Given the description of an element on the screen output the (x, y) to click on. 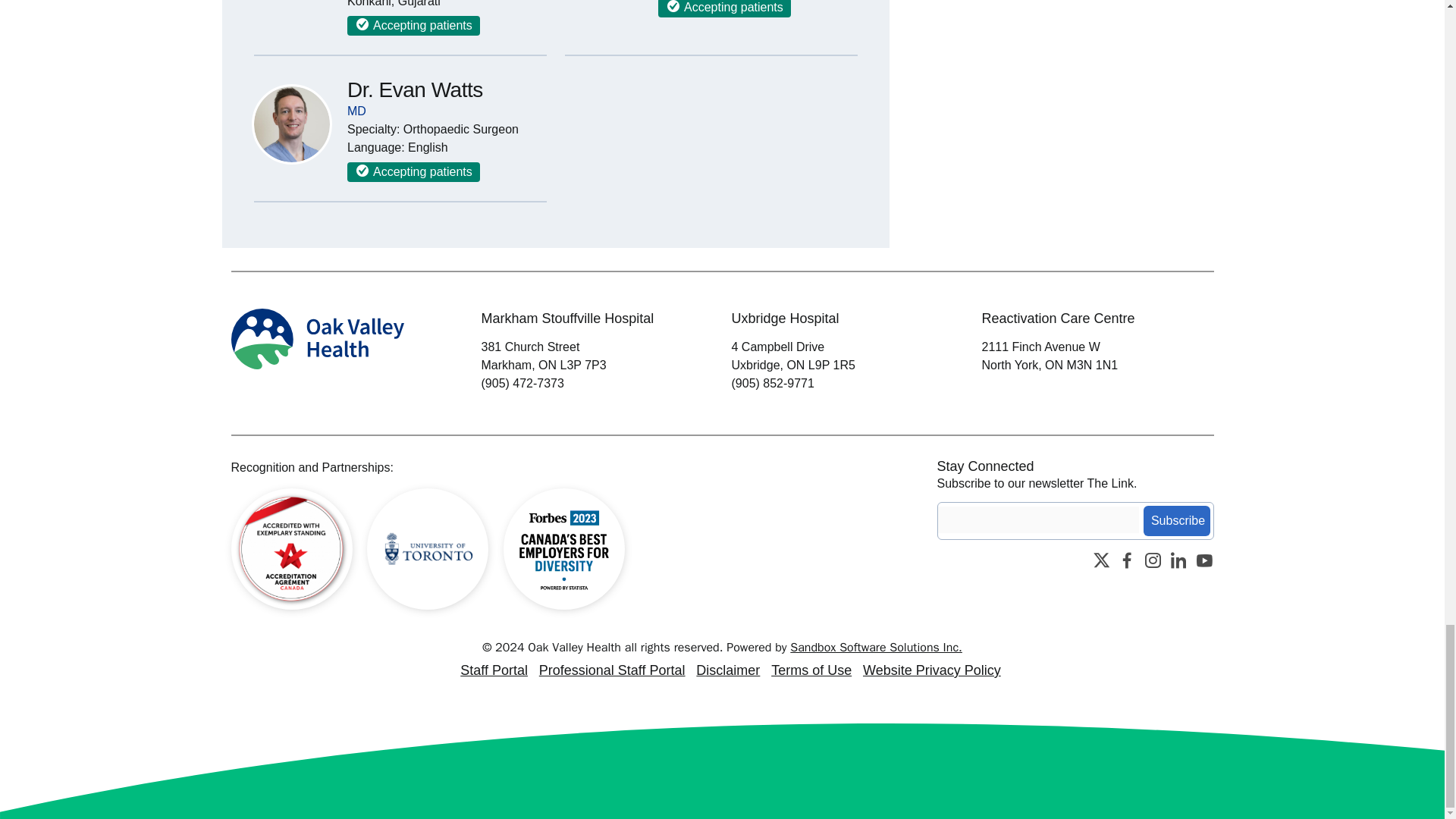
Subscribe (1175, 521)
